Given the description of an element on the screen output the (x, y) to click on. 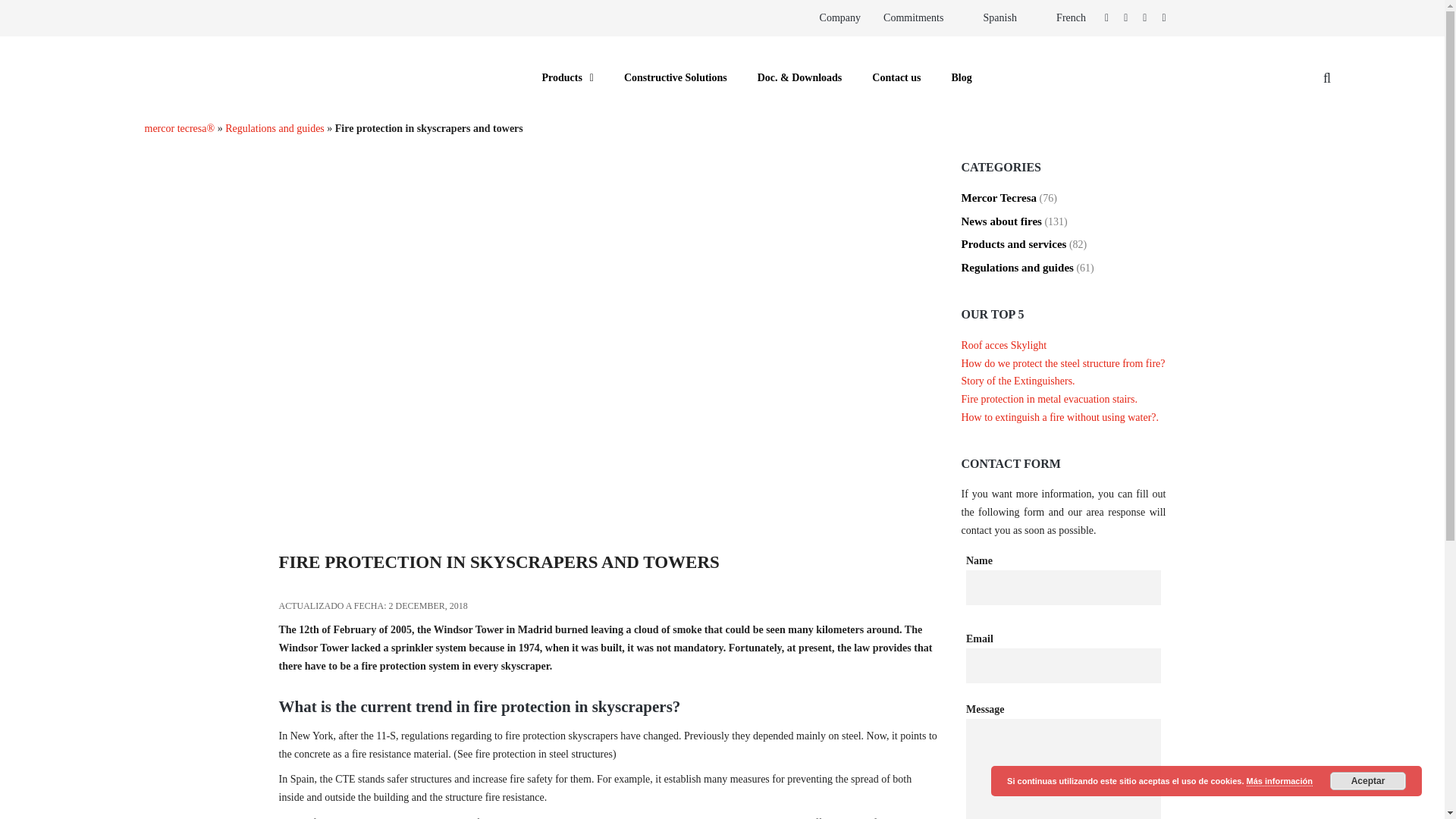
Blog (961, 78)
French (1062, 18)
Contact us (896, 78)
Constructive Solutions (675, 78)
Company (840, 18)
French (1062, 18)
Spanish (991, 18)
Regulations and guides (274, 128)
Mercor Tecresa (998, 197)
Spanish (991, 18)
